Given the description of an element on the screen output the (x, y) to click on. 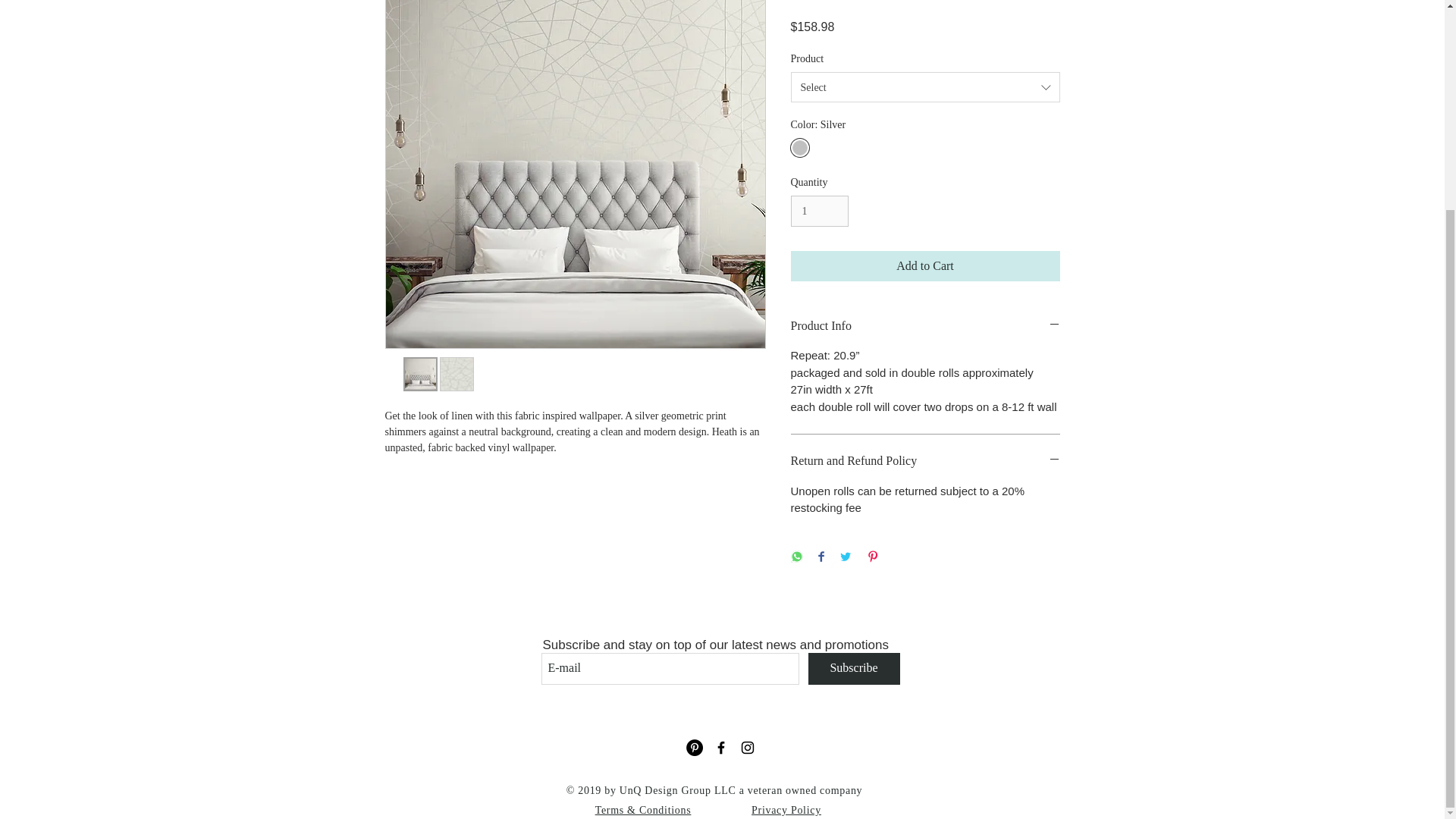
Select (924, 87)
Return and Refund Policy (924, 460)
Product Info (924, 325)
Add to Cart (924, 265)
Privacy Policy (786, 809)
Subscribe (853, 668)
1 (818, 210)
